Given the description of an element on the screen output the (x, y) to click on. 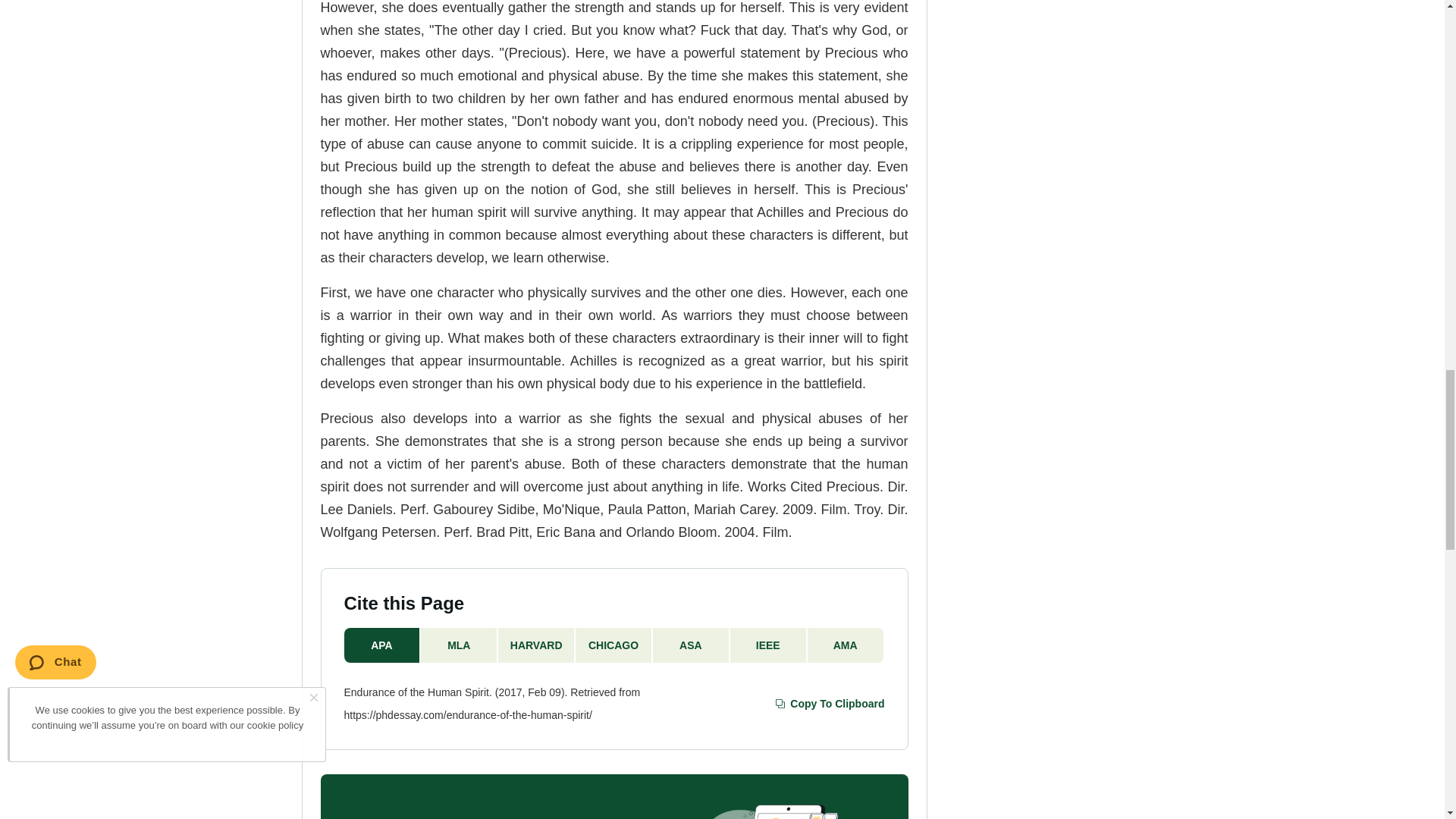
HARVARD (536, 645)
MLA (458, 645)
CHICAGO (613, 645)
APA (382, 645)
